Given the description of an element on the screen output the (x, y) to click on. 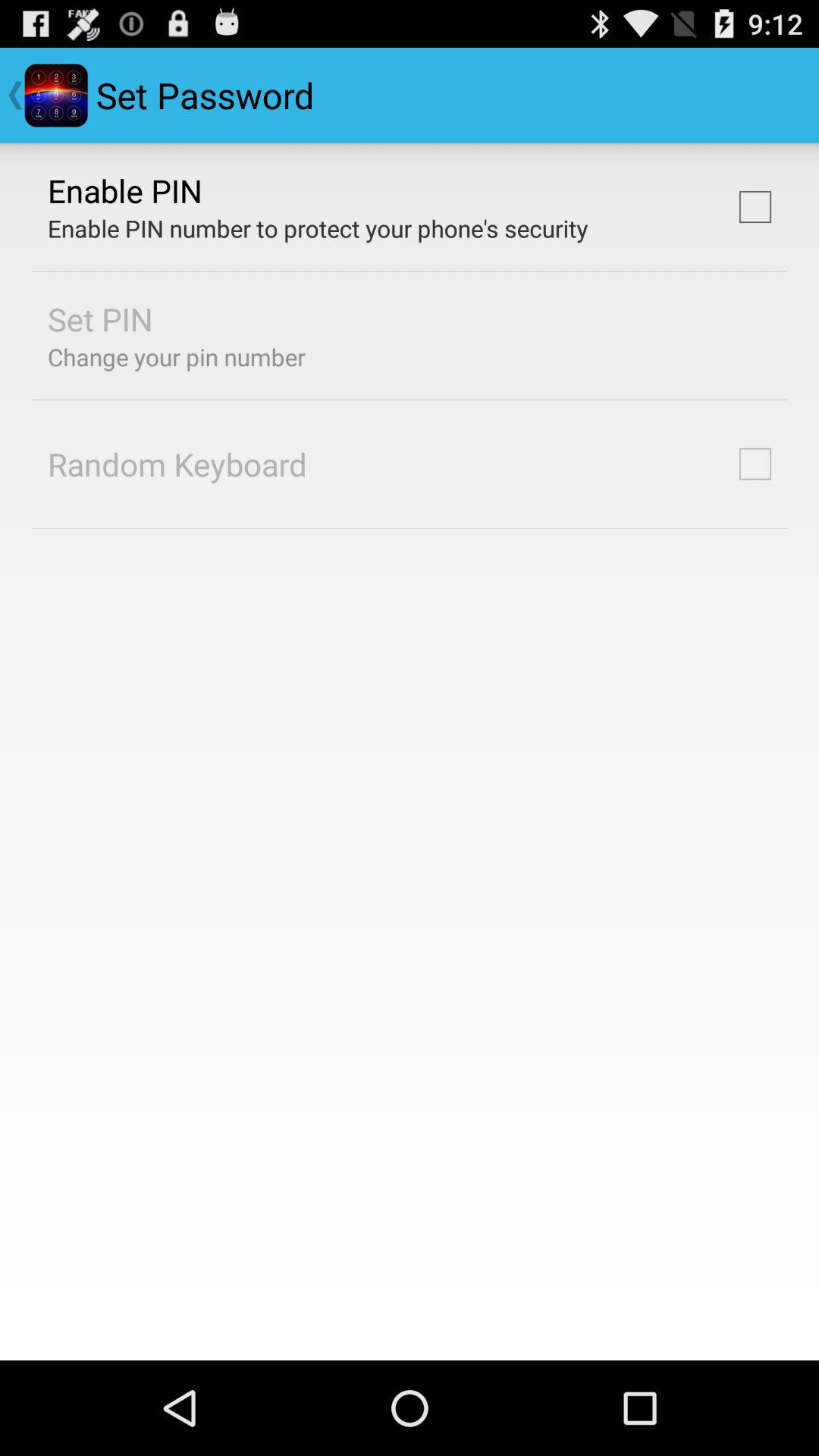
scroll to the random keyboard app (177, 463)
